Given the description of an element on the screen output the (x, y) to click on. 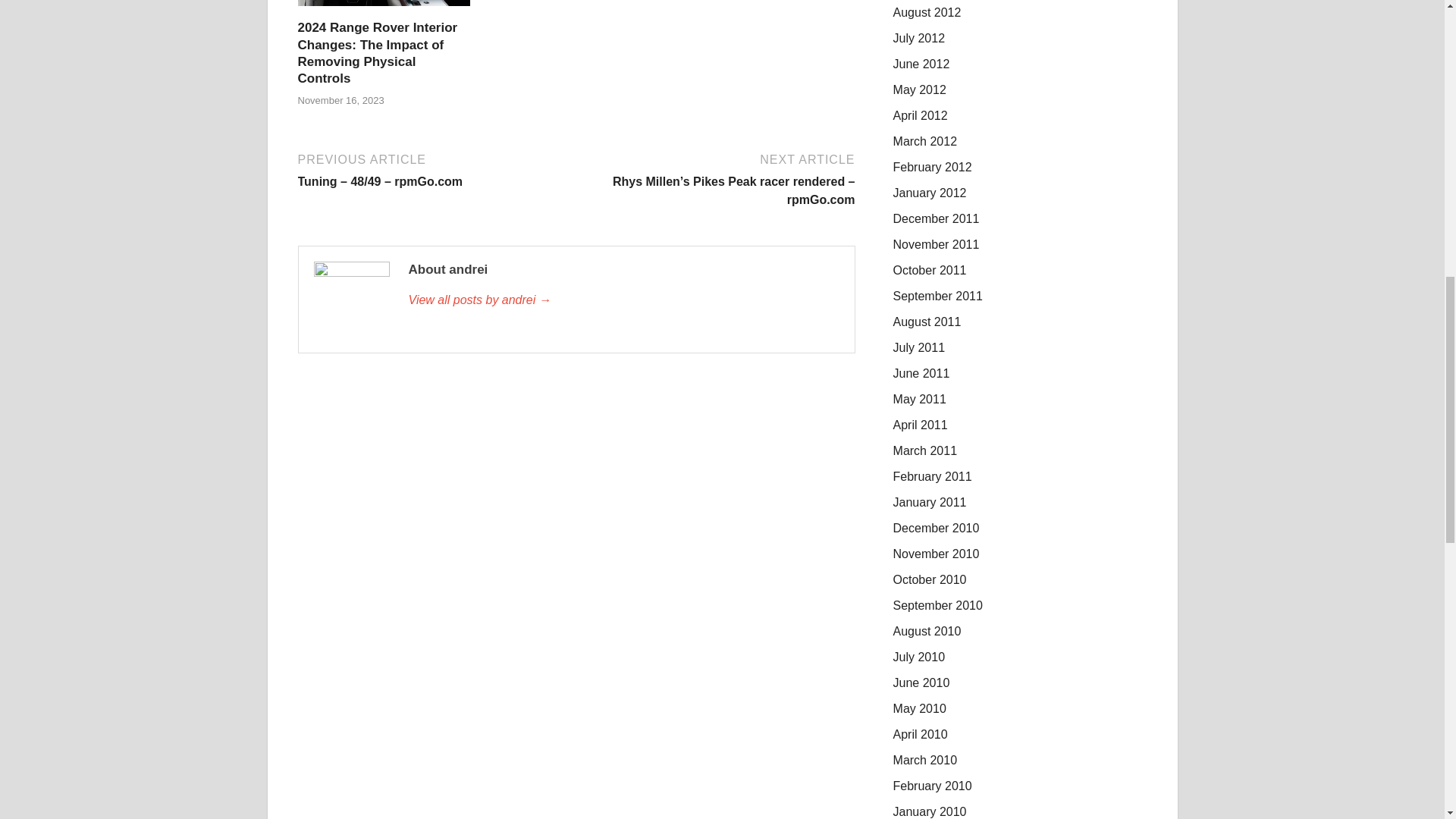
May 2012 (919, 89)
April 2012 (920, 115)
August 2012 (926, 11)
June 2012 (921, 63)
July 2012 (918, 38)
andrei (622, 300)
